Given the description of an element on the screen output the (x, y) to click on. 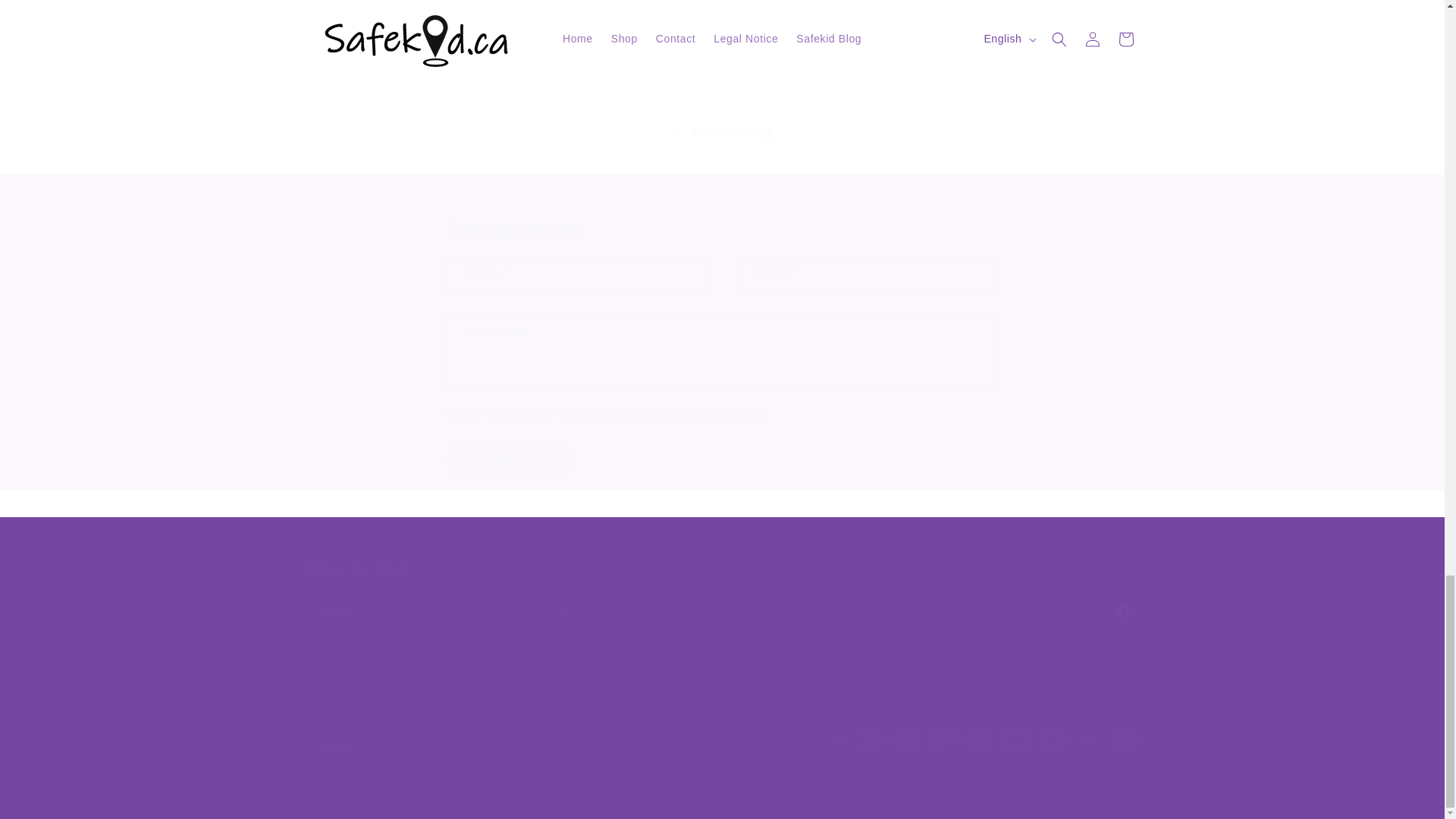
Safekid.ca (721, 593)
Powered by Shopify (362, 798)
Post comment (429, 798)
Post comment (510, 459)
English (510, 459)
Facebook (344, 746)
